Given the description of an element on the screen output the (x, y) to click on. 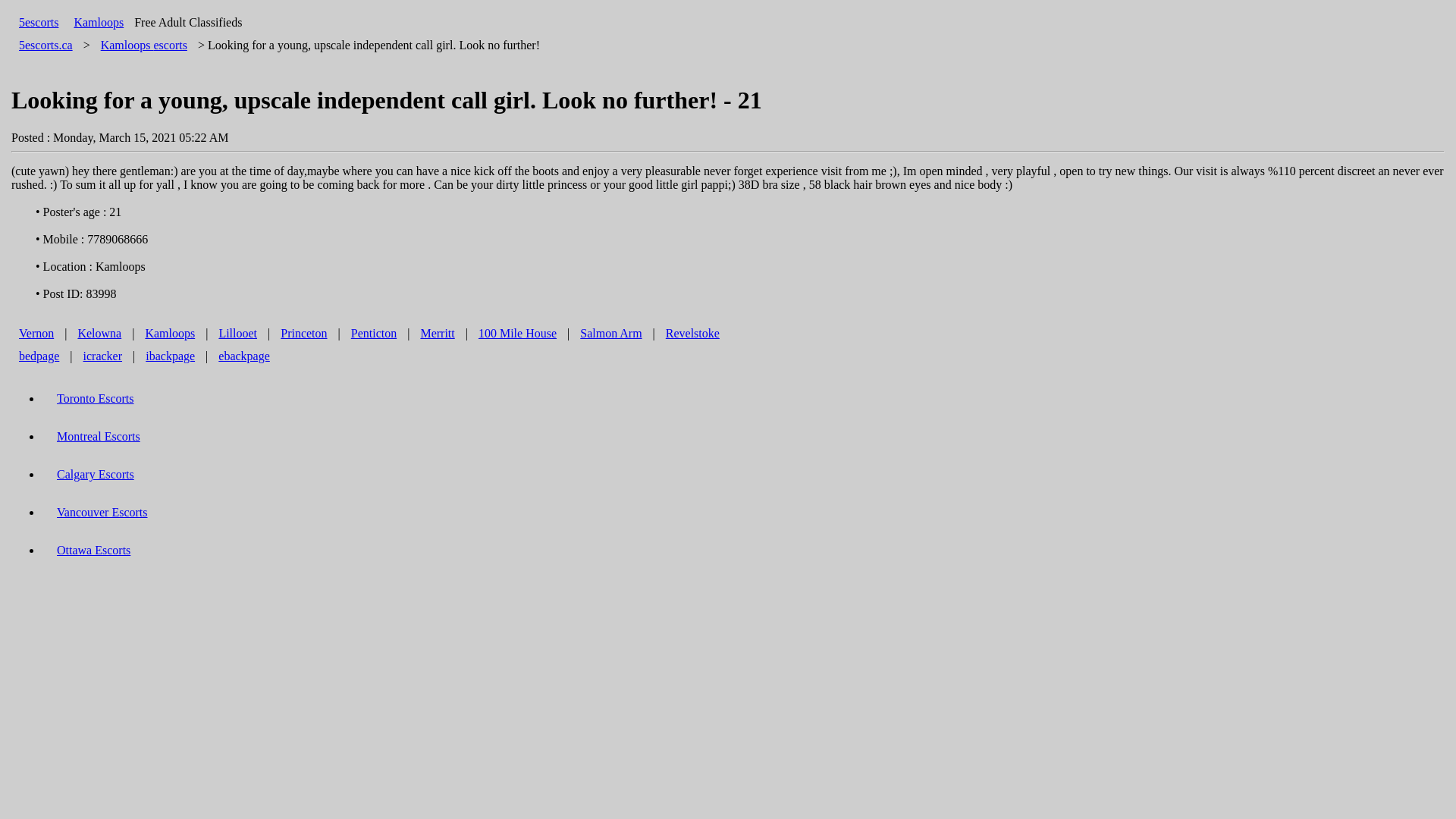
5escorts Element type: text (38, 22)
100 Mile House Element type: text (517, 333)
5escorts.ca Element type: text (45, 45)
Lillooet Element type: text (237, 333)
icracker Element type: text (102, 356)
Penticton Element type: text (373, 333)
Kamloops escorts Element type: text (143, 45)
Montreal Escorts Element type: text (98, 436)
Calgary Escorts Element type: text (95, 474)
Kamloops Element type: text (98, 22)
Vancouver Escorts Element type: text (102, 512)
Ottawa Escorts Element type: text (93, 550)
Princeton Element type: text (303, 333)
Salmon Arm Element type: text (610, 333)
Merritt Element type: text (436, 333)
ebackpage Element type: text (243, 356)
Vernon Element type: text (36, 333)
Revelstoke Element type: text (692, 333)
ibackpage Element type: text (170, 356)
Toronto Escorts Element type: text (95, 398)
Kelowna Element type: text (98, 333)
Kamloops Element type: text (169, 333)
bedpage Element type: text (38, 356)
